Given the description of an element on the screen output the (x, y) to click on. 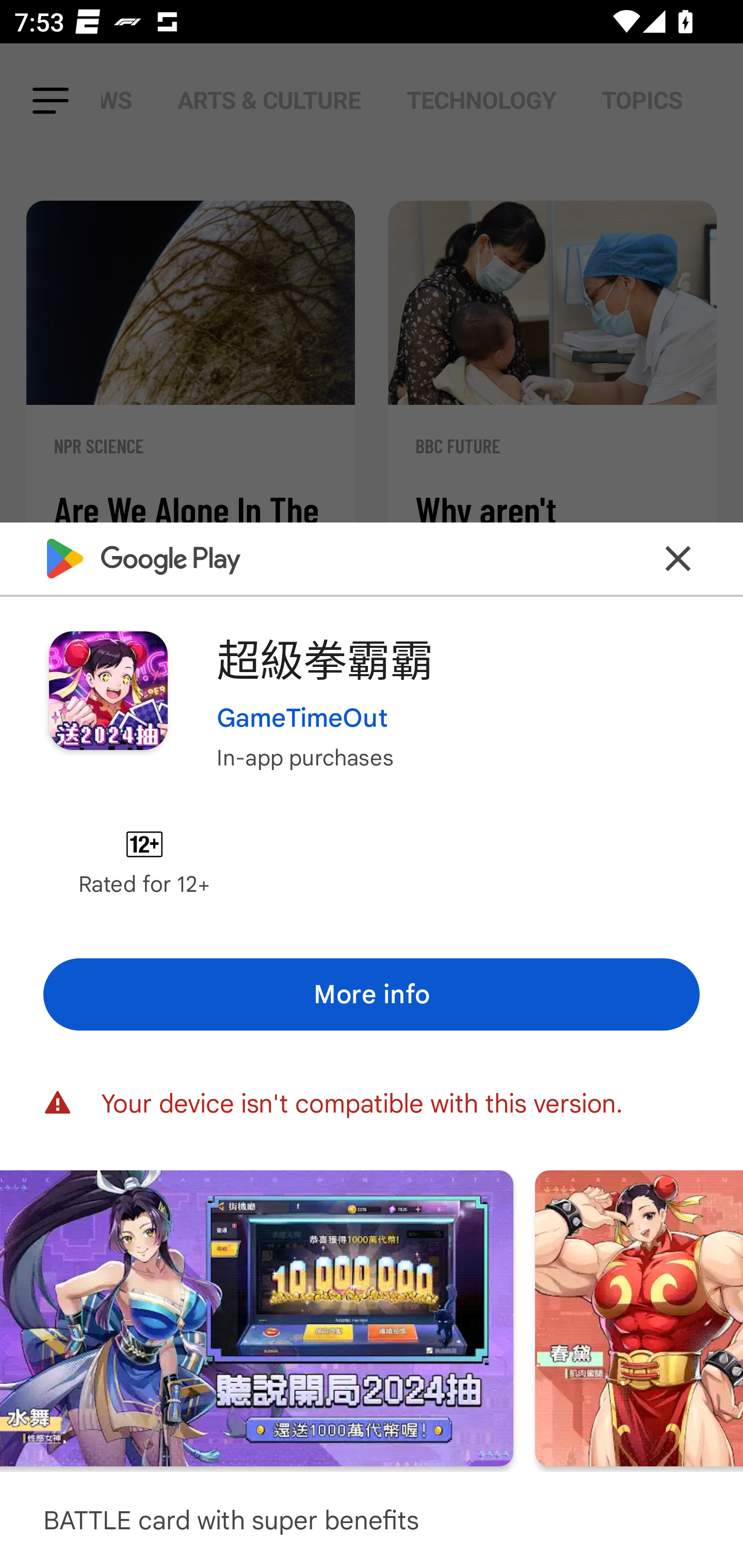
Close (677, 558)
Image of app or game icon for 超級拳霸霸 (108, 690)
GameTimeOut (301, 716)
More info (371, 994)
Screenshot "3" of "7" (256, 1317)
